Given the description of an element on the screen output the (x, y) to click on. 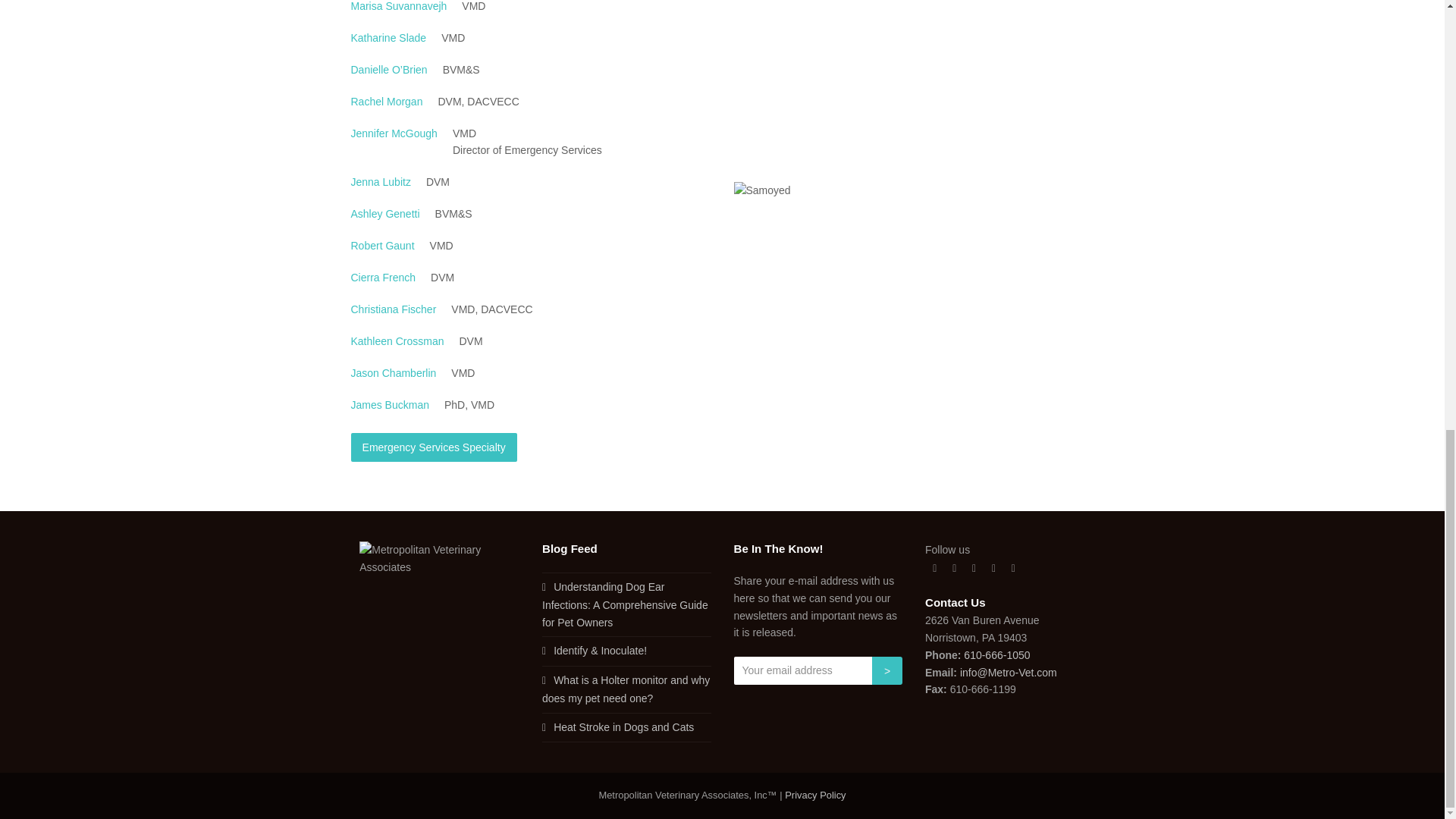
Facebook (953, 568)
Twitter (934, 568)
Instagram (973, 568)
TikTok (1013, 568)
Youtube (994, 568)
Happy Dog (761, 190)
